Given the description of an element on the screen output the (x, y) to click on. 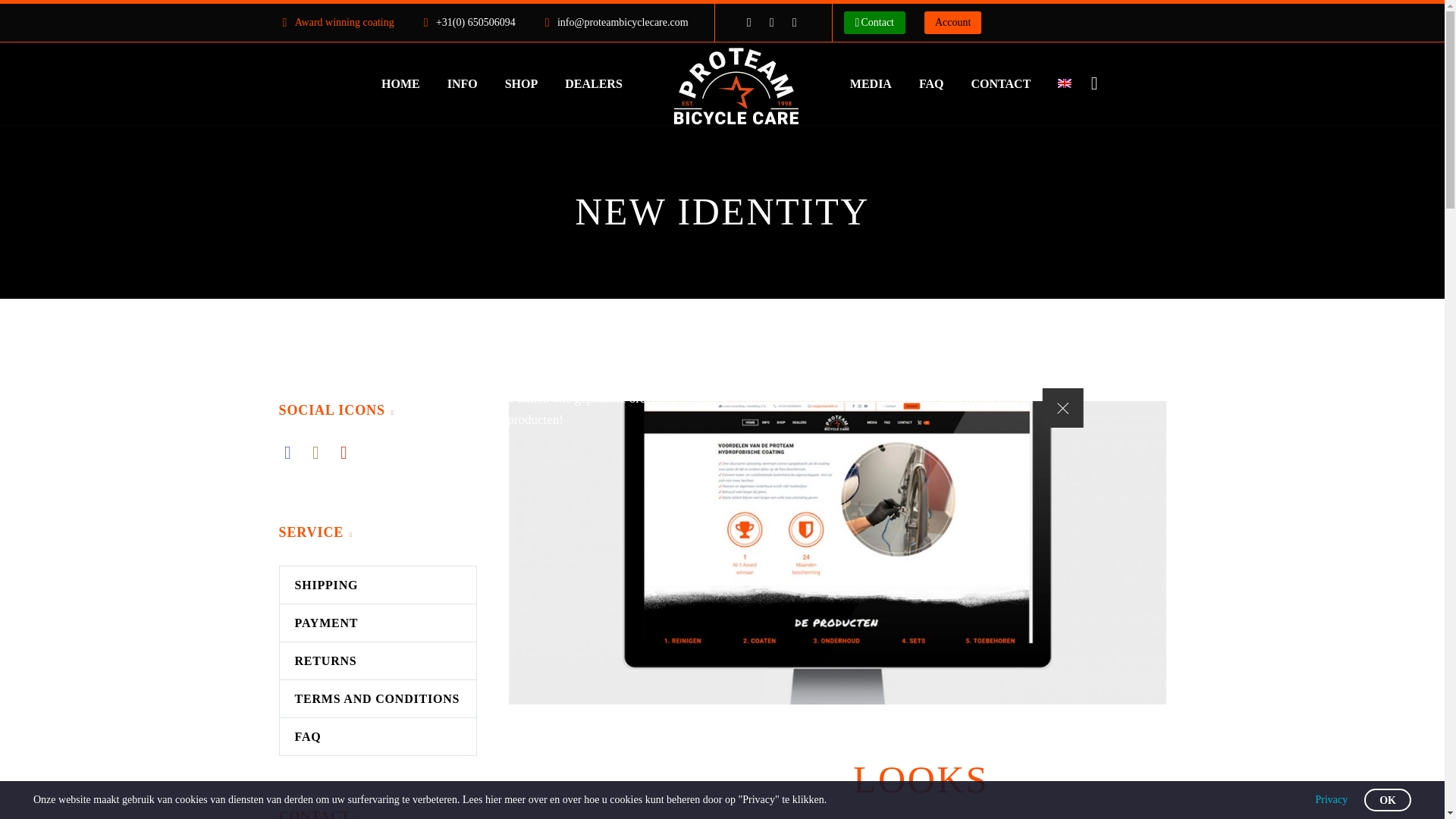
INFO (462, 83)
MEDIA (870, 83)
Close (1062, 407)
RETURNS (377, 660)
TERMS AND CONDITIONS (377, 698)
YouTube (794, 22)
HOME (399, 83)
CONTACT (1000, 83)
SHOP (521, 83)
Instagram (771, 22)
Contact (874, 22)
Facebook (749, 22)
SHIPPING (377, 584)
DEALERS (593, 83)
Account (952, 22)
